Given the description of an element on the screen output the (x, y) to click on. 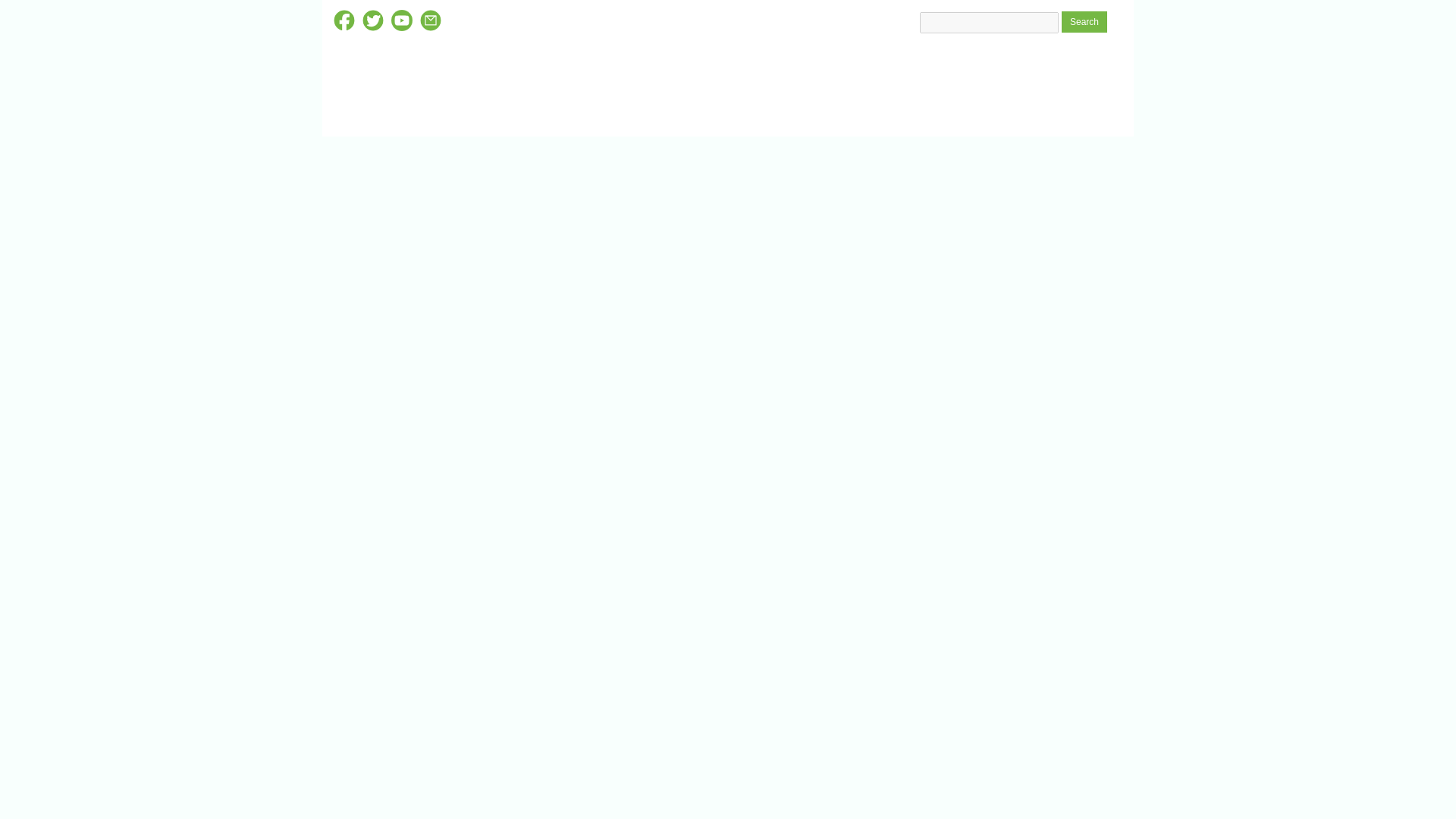
Search (1083, 21)
